Given the description of an element on the screen output the (x, y) to click on. 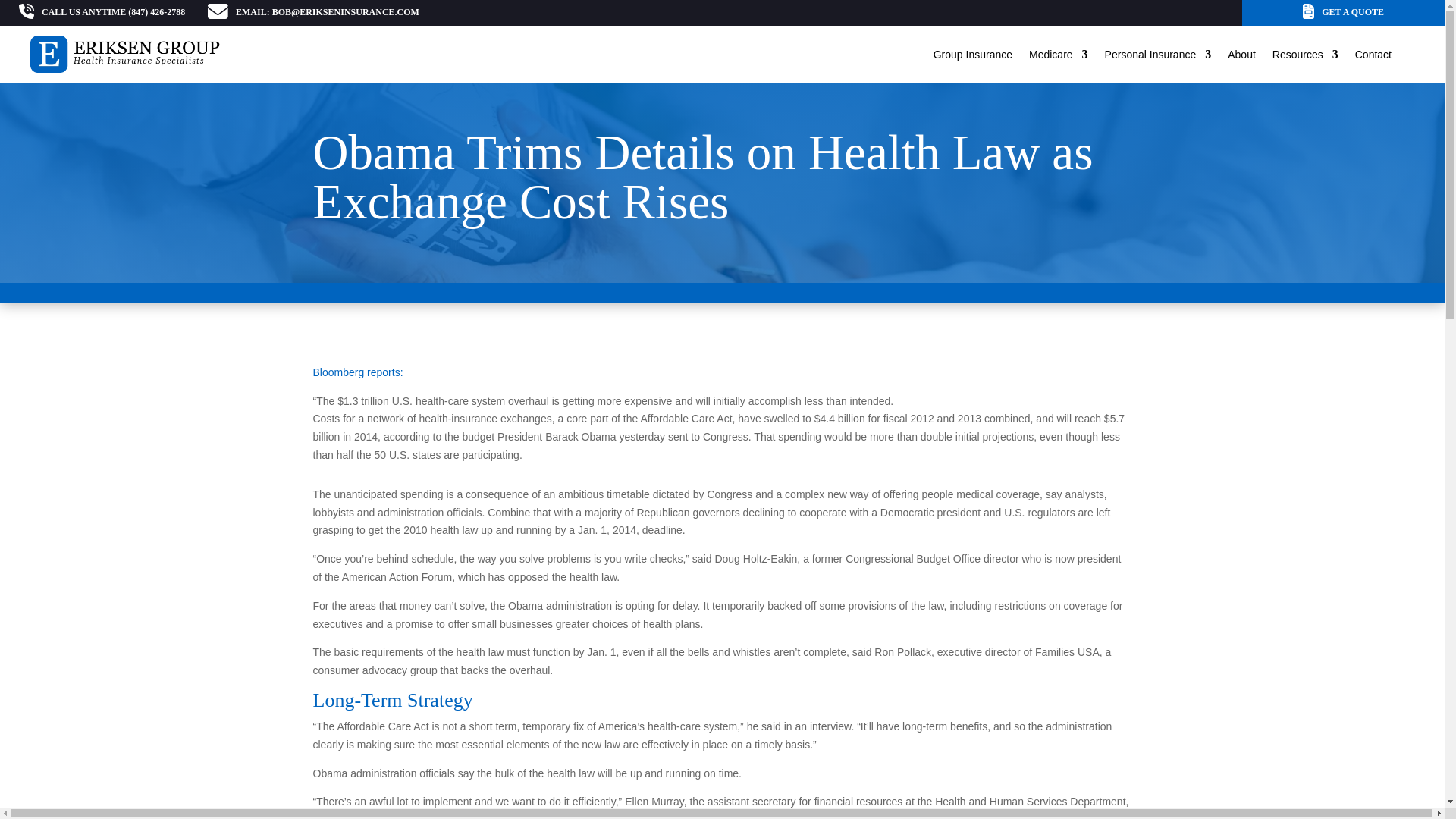
Contact (1373, 54)
About (1241, 54)
Personal Insurance (1158, 54)
Resources (1305, 54)
Group Insurance (972, 54)
Medicare (1058, 54)
GET A QUOTE (1353, 13)
